Given the description of an element on the screen output the (x, y) to click on. 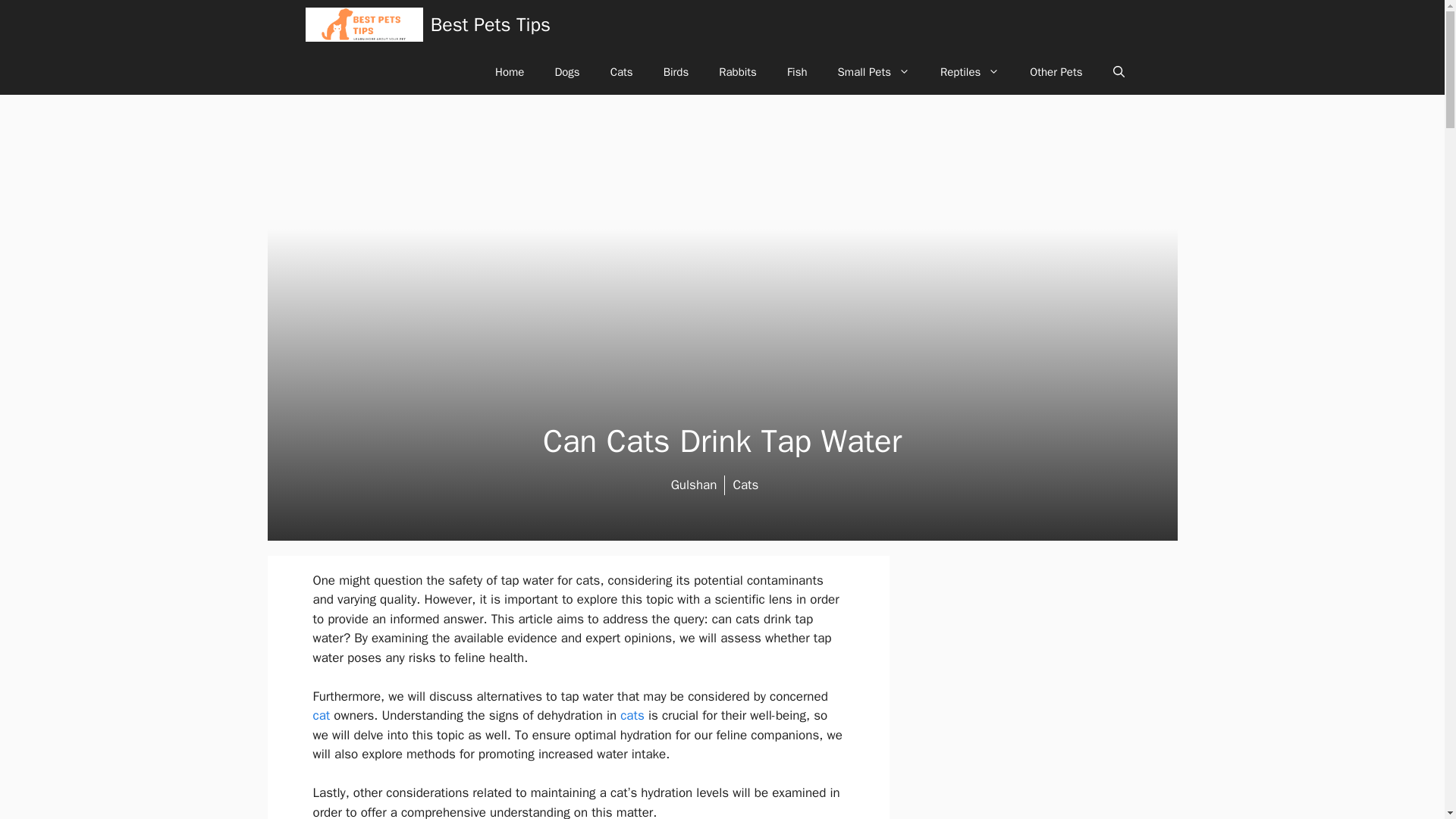
Fish (796, 72)
Reptiles (969, 72)
cat (321, 715)
cats (632, 715)
Rabbits (737, 72)
Birds (675, 72)
Home (509, 72)
cats (632, 715)
Cats (621, 72)
Small Pets (873, 72)
